Given the description of an element on the screen output the (x, y) to click on. 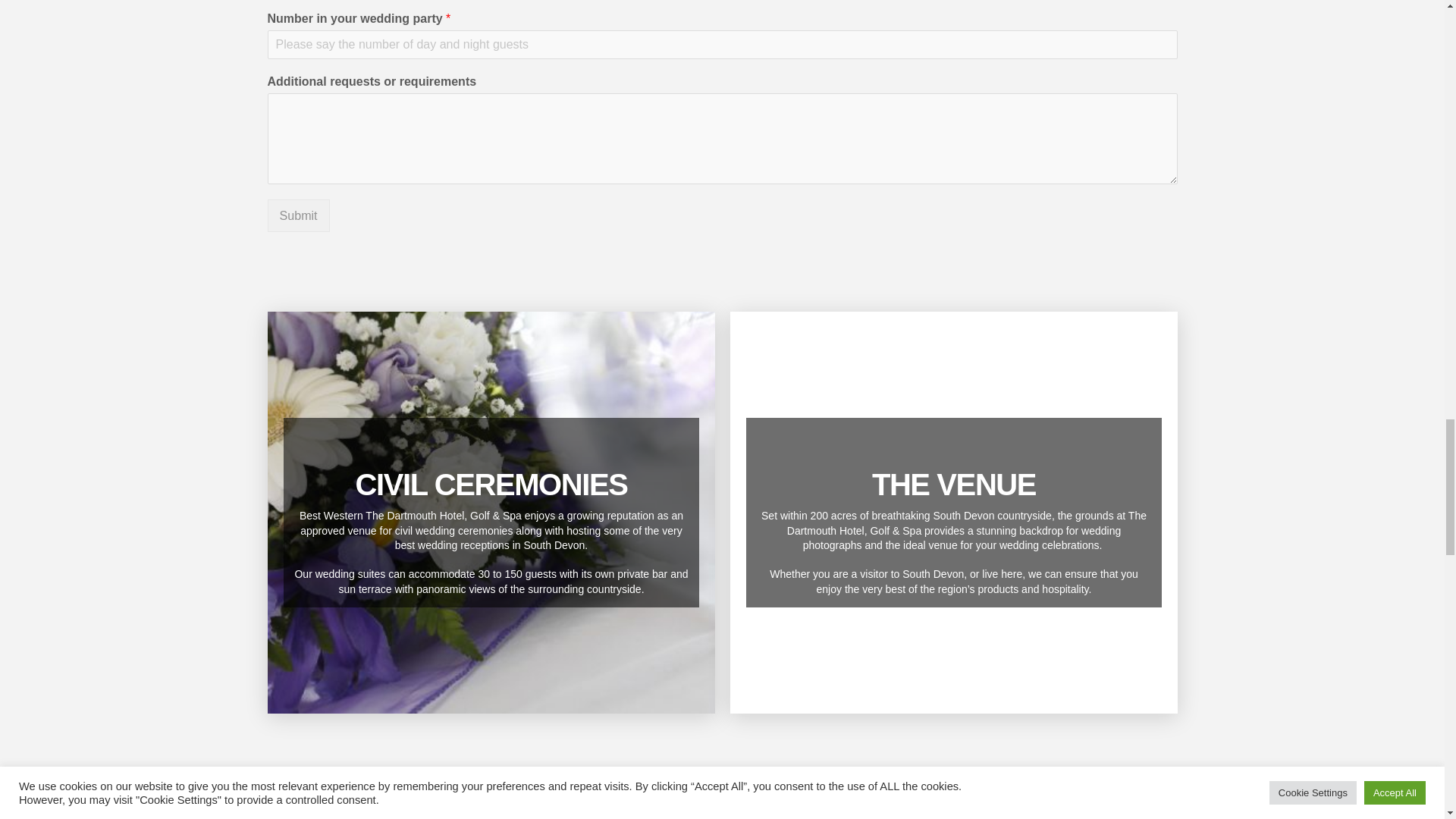
Submit (297, 215)
FIND OUT MORE (491, 507)
FIND OUT MORE (953, 507)
